Given the description of an element on the screen output the (x, y) to click on. 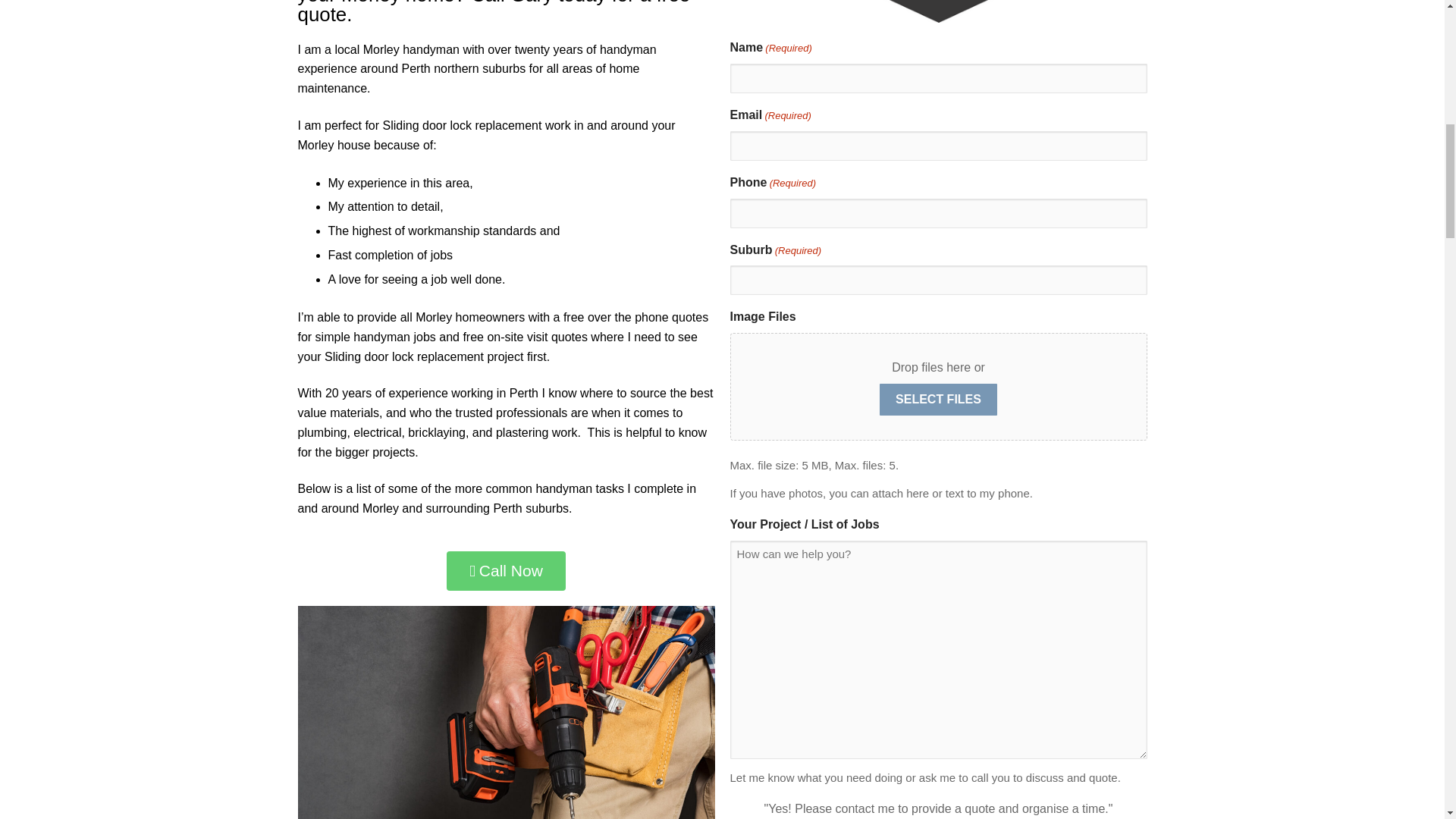
SELECT FILES (938, 399)
Call Now (506, 570)
